Given the description of an element on the screen output the (x, y) to click on. 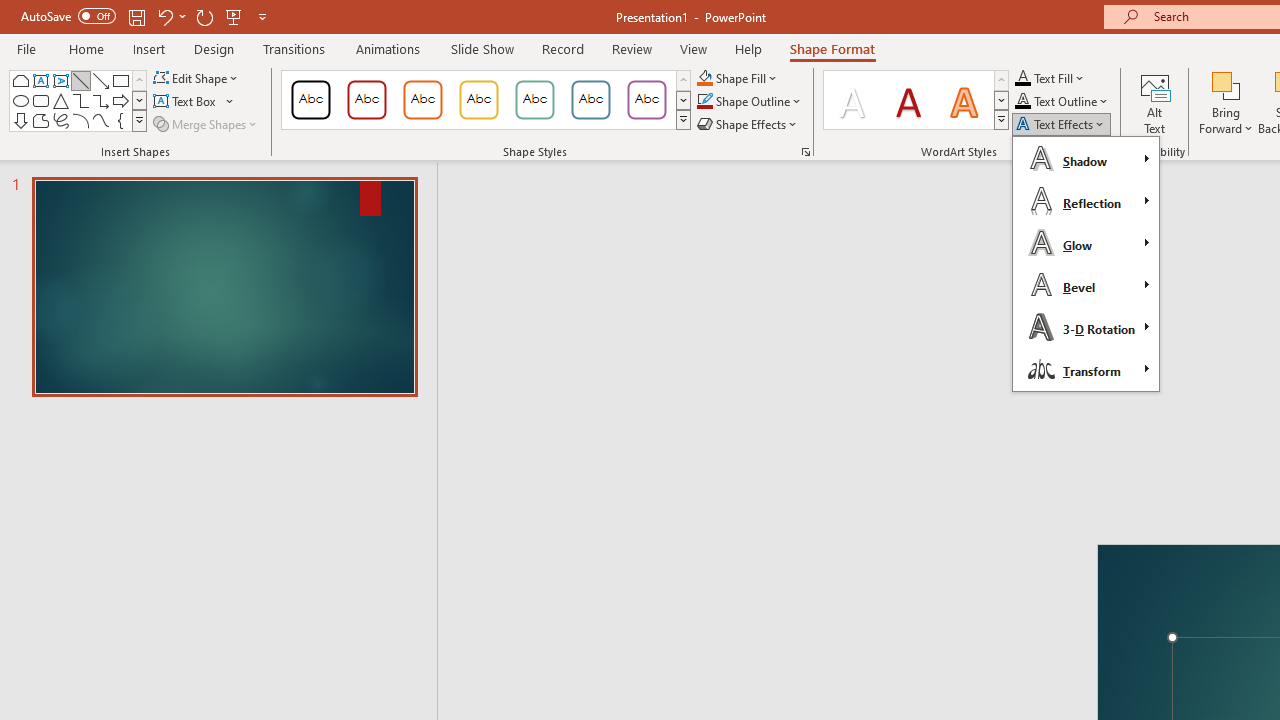
Text Effects (1061, 124)
Colored Outline - Dark Red, Accent 1 (367, 100)
Text Outline (1062, 101)
Colored Outline - Purple, Accent 6 (646, 100)
Bring Forward (1225, 102)
Bring Forward (1225, 84)
Colored Outline - Green, Accent 4 (534, 100)
Colored Outline - Gold, Accent 3 (478, 100)
